Given the description of an element on the screen output the (x, y) to click on. 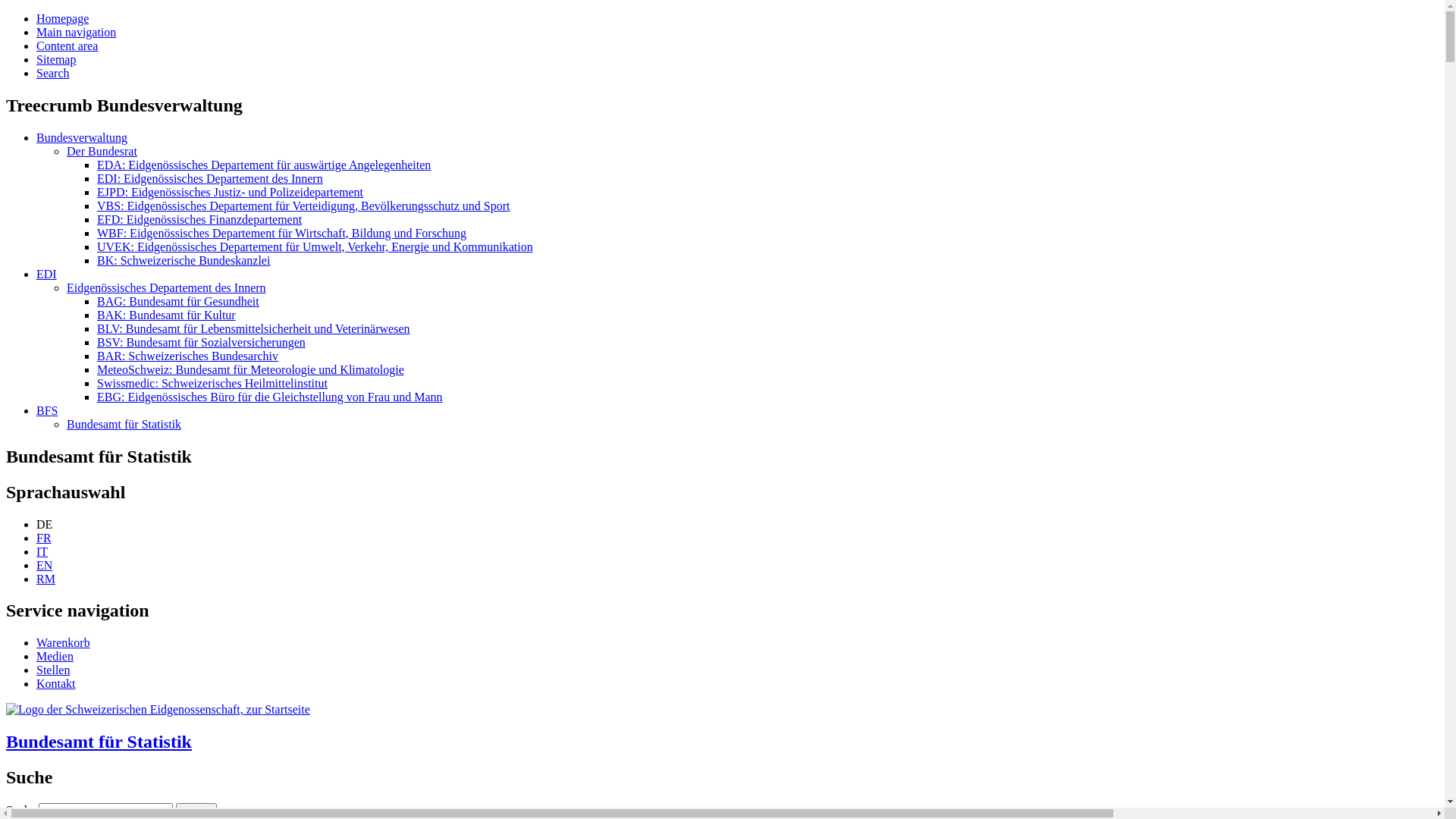
Search Element type: text (52, 72)
Main navigation Element type: text (76, 31)
Stellen Element type: text (52, 669)
EDI Element type: text (46, 273)
Sitemap Element type: text (55, 59)
IT Element type: text (41, 551)
Warenkorb Element type: text (63, 642)
EN Element type: text (44, 564)
Content area Element type: text (66, 45)
Kontakt Element type: text (55, 683)
RM Element type: text (45, 578)
FR Element type: text (43, 537)
Swissmedic: Schweizerisches Heilmittelinstitut Element type: text (212, 382)
BK: Schweizerische Bundeskanzlei Element type: text (183, 260)
Bundesverwaltung Element type: text (81, 137)
BAR: Schweizerisches Bundesarchiv Element type: text (187, 355)
DE Element type: text (44, 523)
Der Bundesrat Element type: text (101, 150)
Medien Element type: text (54, 655)
BFS Element type: text (46, 410)
Homepage Element type: text (62, 18)
